Given the description of an element on the screen output the (x, y) to click on. 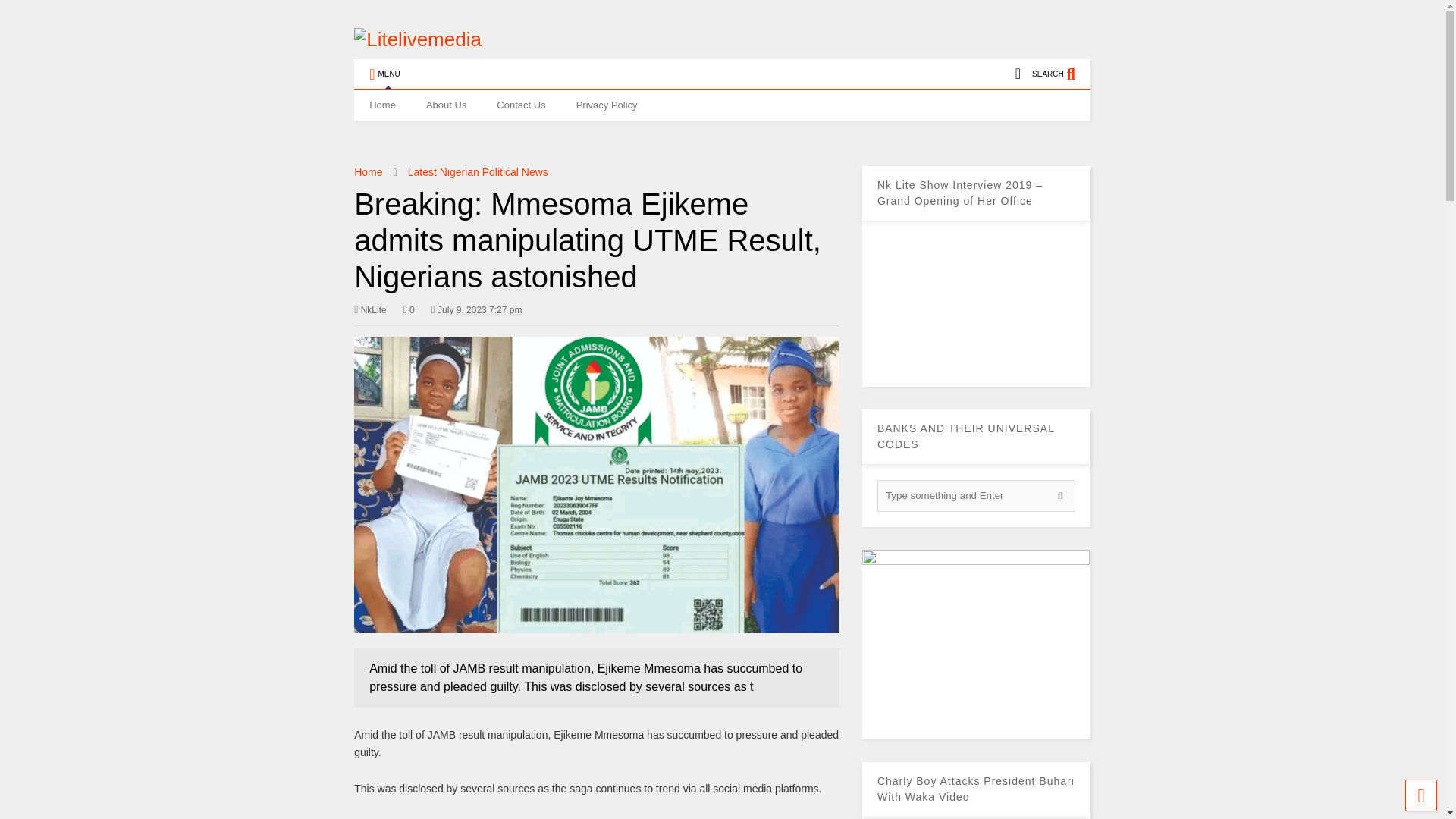
SEARCH (1061, 73)
Litelivemedia (417, 38)
MENU (383, 73)
July 9, 2023 7:27 pm (476, 309)
Home (381, 105)
September 4, 2023 12:24 pm (479, 309)
NkLite (369, 309)
Home (367, 172)
Privacy Policy (606, 105)
